Given the description of an element on the screen output the (x, y) to click on. 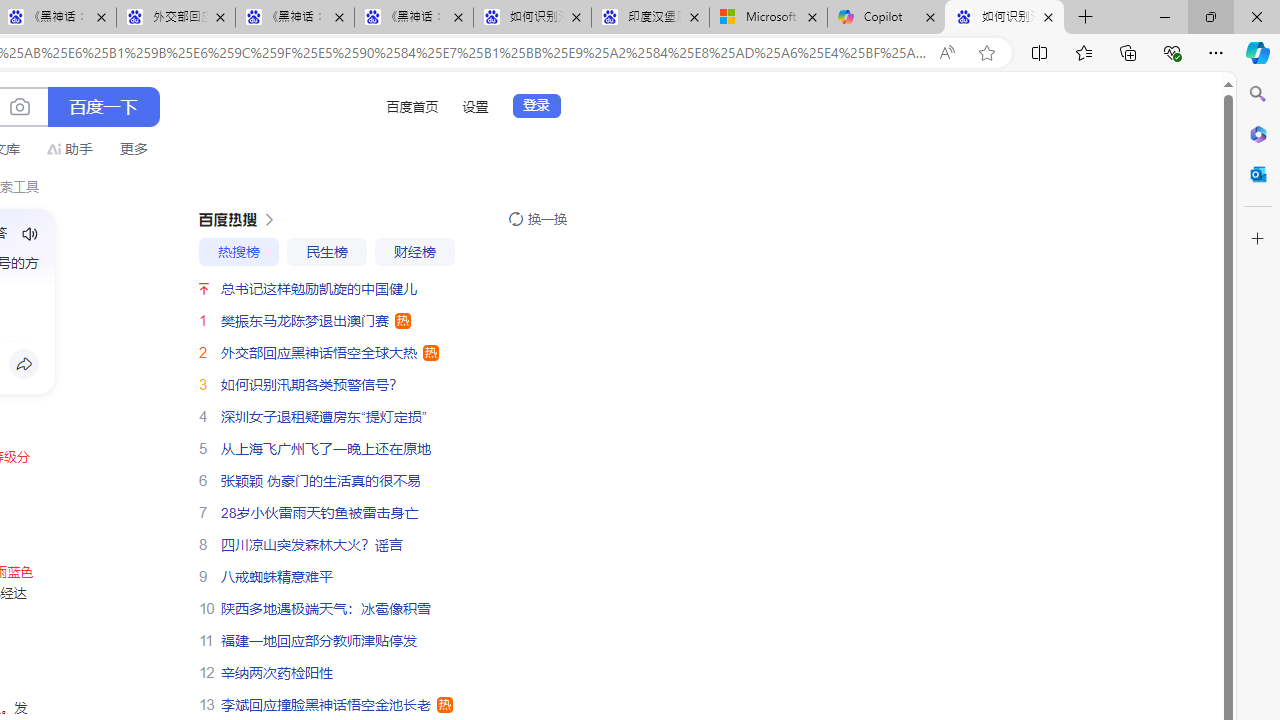
Outlook (1258, 174)
Split screen (1039, 52)
Search (1258, 94)
Copilot (Ctrl+Shift+.) (1258, 52)
Close tab (1048, 16)
New Tab (1085, 17)
